Given the description of an element on the screen output the (x, y) to click on. 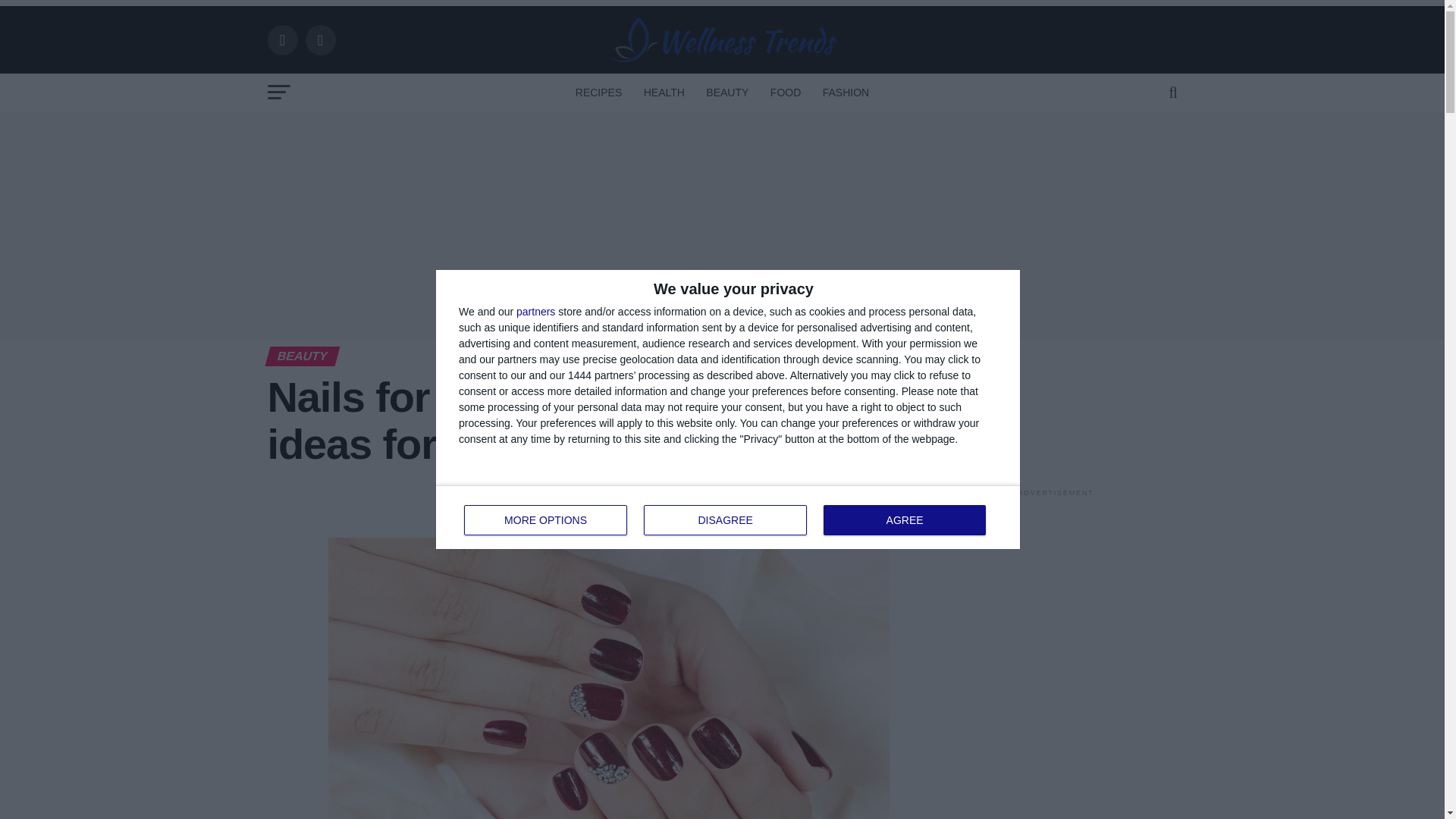
partners (535, 311)
Twitter (580, 504)
FOOD (785, 92)
Facebook (553, 504)
FASHION (845, 92)
MORE OPTIONS (545, 520)
HEALTH (664, 92)
BEAUTY (727, 92)
Email (727, 516)
Telegram (662, 504)
AGREE (635, 504)
DISAGREE (904, 520)
Whatsapp (724, 520)
RECIPES (607, 504)
